Given the description of an element on the screen output the (x, y) to click on. 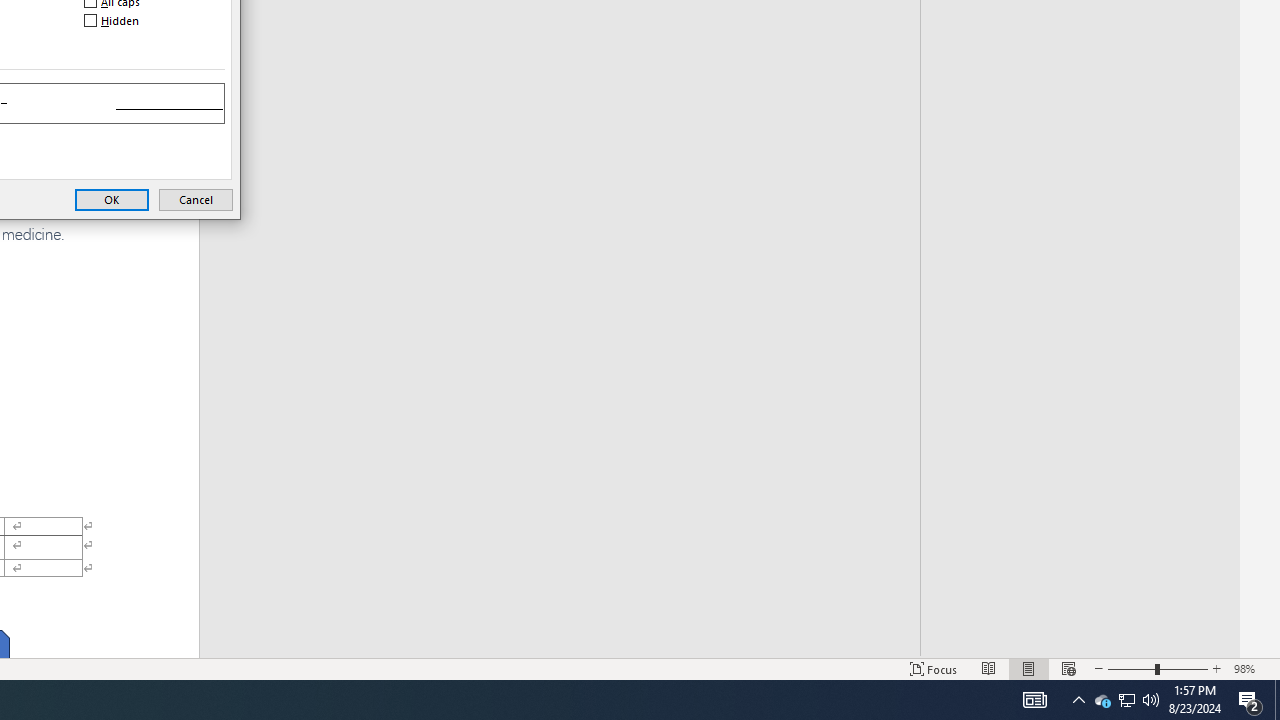
Q2790: 100% (1151, 699)
Zoom In (1217, 668)
User Promoted Notification Area (1126, 699)
Focus  (934, 668)
OK (111, 199)
Cancel (1126, 699)
Zoom Out (195, 199)
Show desktop (1131, 668)
Notification Chevron (1277, 699)
AutomationID: 4105 (1078, 699)
Read Mode (1034, 699)
Hidden (1102, 699)
